Given the description of an element on the screen output the (x, y) to click on. 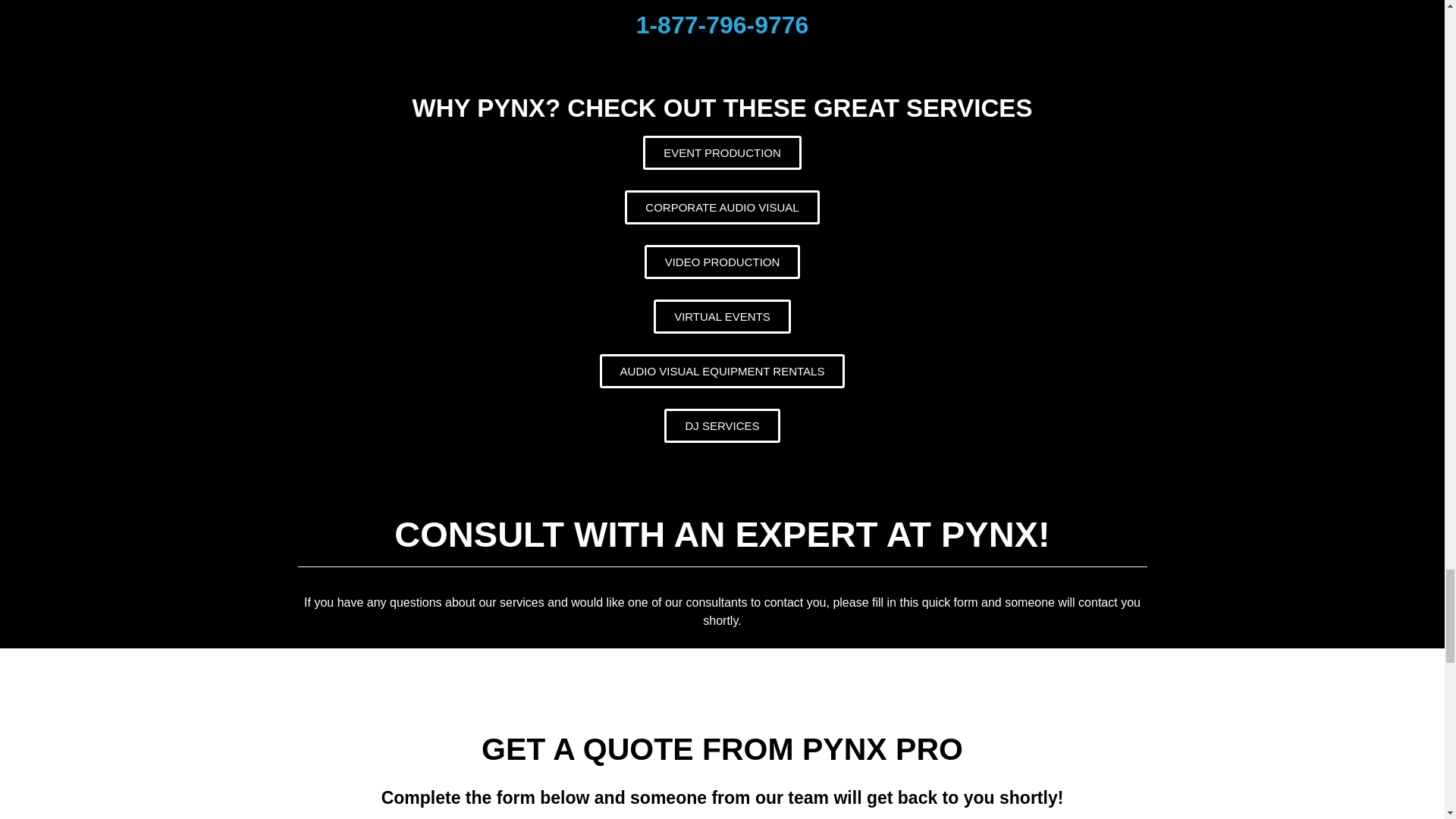
AUDIO VISUAL EQUIPMENT RENTALS (722, 370)
VIDEO PRODUCTION (722, 261)
CORPORATE AUDIO VISUAL (721, 207)
VIRTUAL EVENTS (721, 316)
EVENT PRODUCTION (722, 152)
1-877-796-9776 (722, 24)
